Given the description of an element on the screen output the (x, y) to click on. 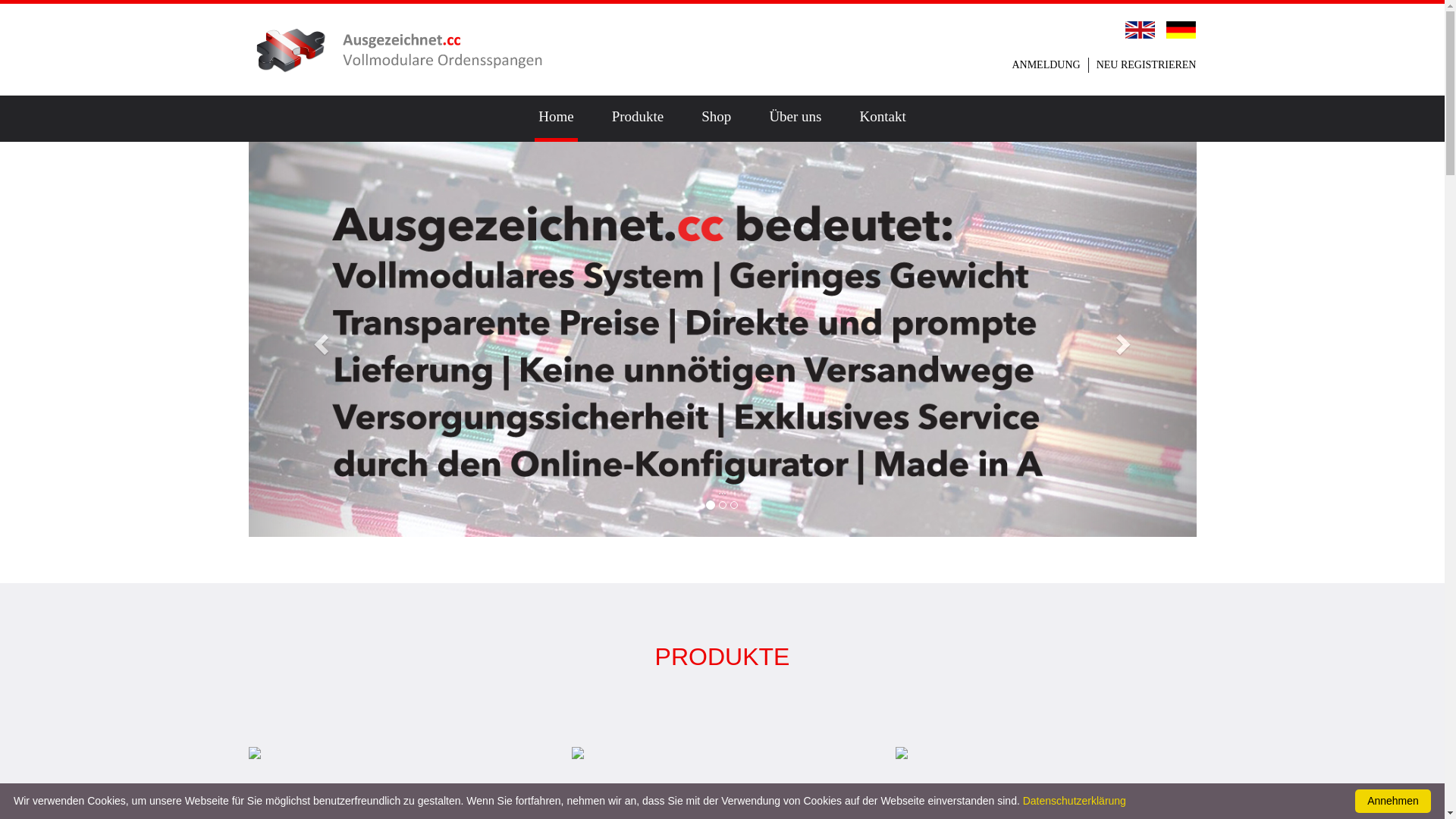
Home
(current) Element type: text (555, 118)
ANMELDUNG Element type: text (1045, 64)
NEU REGISTRIEREN Element type: text (1146, 64)
Bisherige Element type: text (319, 338)
English Element type: hover (1139, 28)
Produkte Element type: text (638, 118)
Kontakt Element type: text (883, 118)
German Element type: hover (1180, 28)
Shop Element type: text (715, 118)
